Given the description of an element on the screen output the (x, y) to click on. 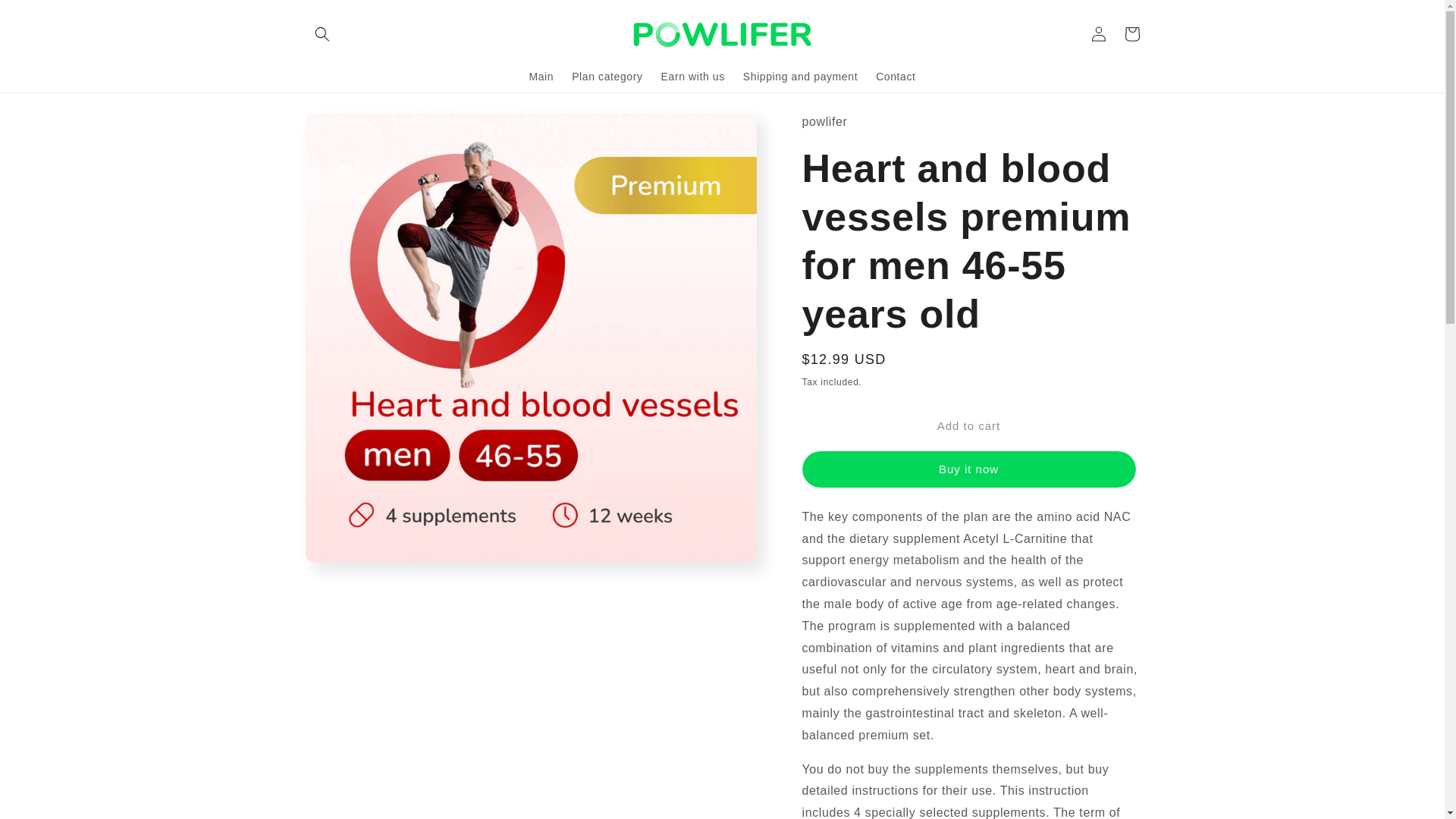
Buy it now (968, 469)
Earn with us (692, 76)
Skip to product information (350, 127)
Shipping and payment (799, 76)
Contact (895, 76)
Cart (1131, 32)
Log in (1098, 32)
Add to cart (968, 426)
Skip to content (45, 16)
Plan category (606, 76)
Main (540, 76)
